Given the description of an element on the screen output the (x, y) to click on. 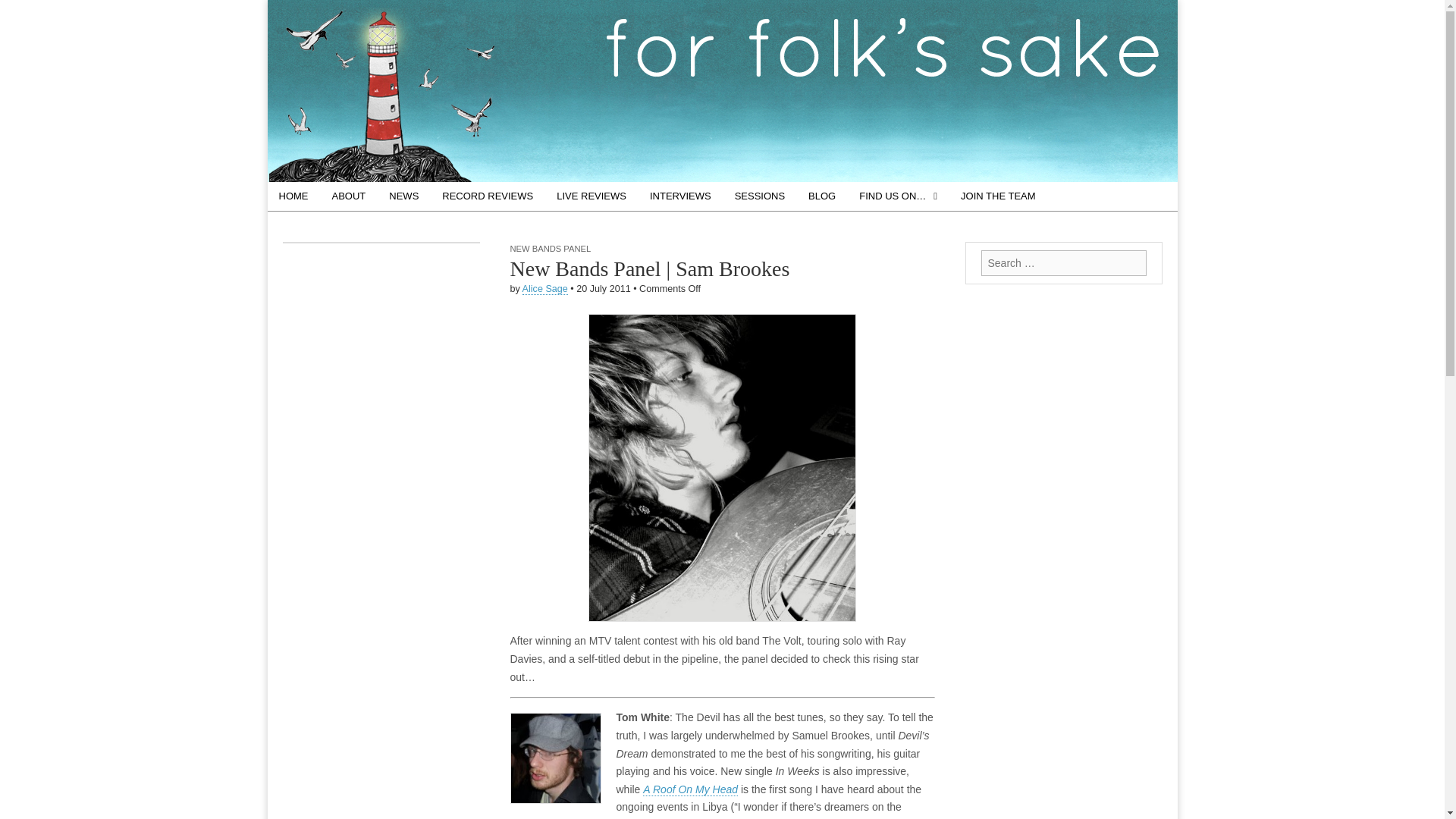
NEWS (403, 195)
NEW BANDS PANEL (550, 248)
Alice Sage (544, 288)
LIVE REVIEWS (590, 195)
RECORD REVIEWS (487, 195)
SESSIONS (759, 195)
A Roof On My Head (690, 789)
HOME (292, 195)
JOIN THE TEAM (997, 195)
BLOG (821, 195)
INTERVIEWS (680, 195)
Posts by Alice Sage (544, 288)
Search (23, 12)
